Given the description of an element on the screen output the (x, y) to click on. 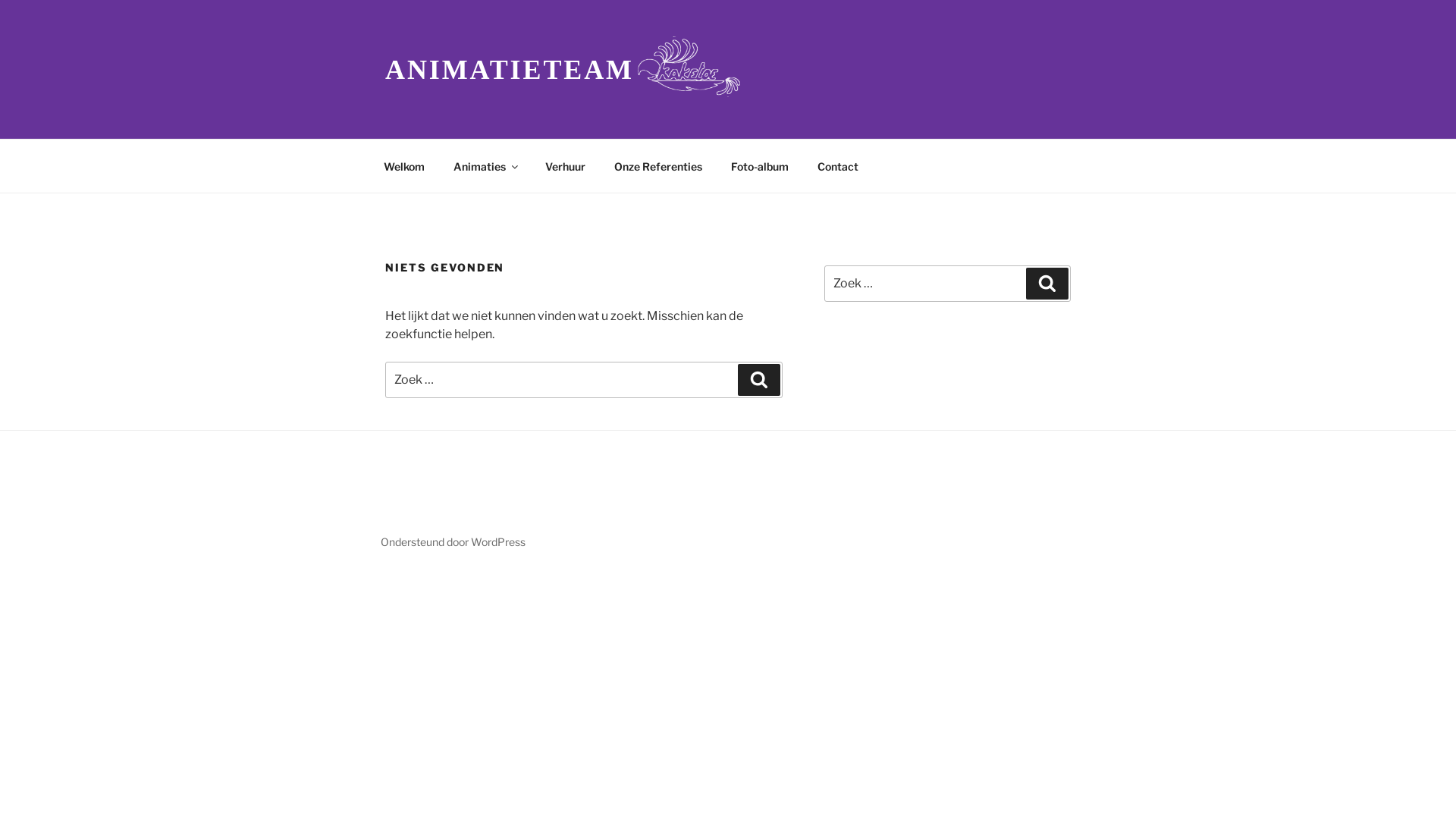
Zoek Element type: text (1047, 283)
ANIMATIETEAM Element type: text (509, 69)
Foto-album Element type: text (759, 165)
Welkom Element type: text (403, 165)
Onze Referenties Element type: text (657, 165)
Contact Element type: text (837, 165)
Ondersteund door WordPress Element type: text (452, 541)
Animaties Element type: text (484, 165)
Zoek Element type: text (758, 379)
Verhuur Element type: text (564, 165)
